Given the description of an element on the screen output the (x, y) to click on. 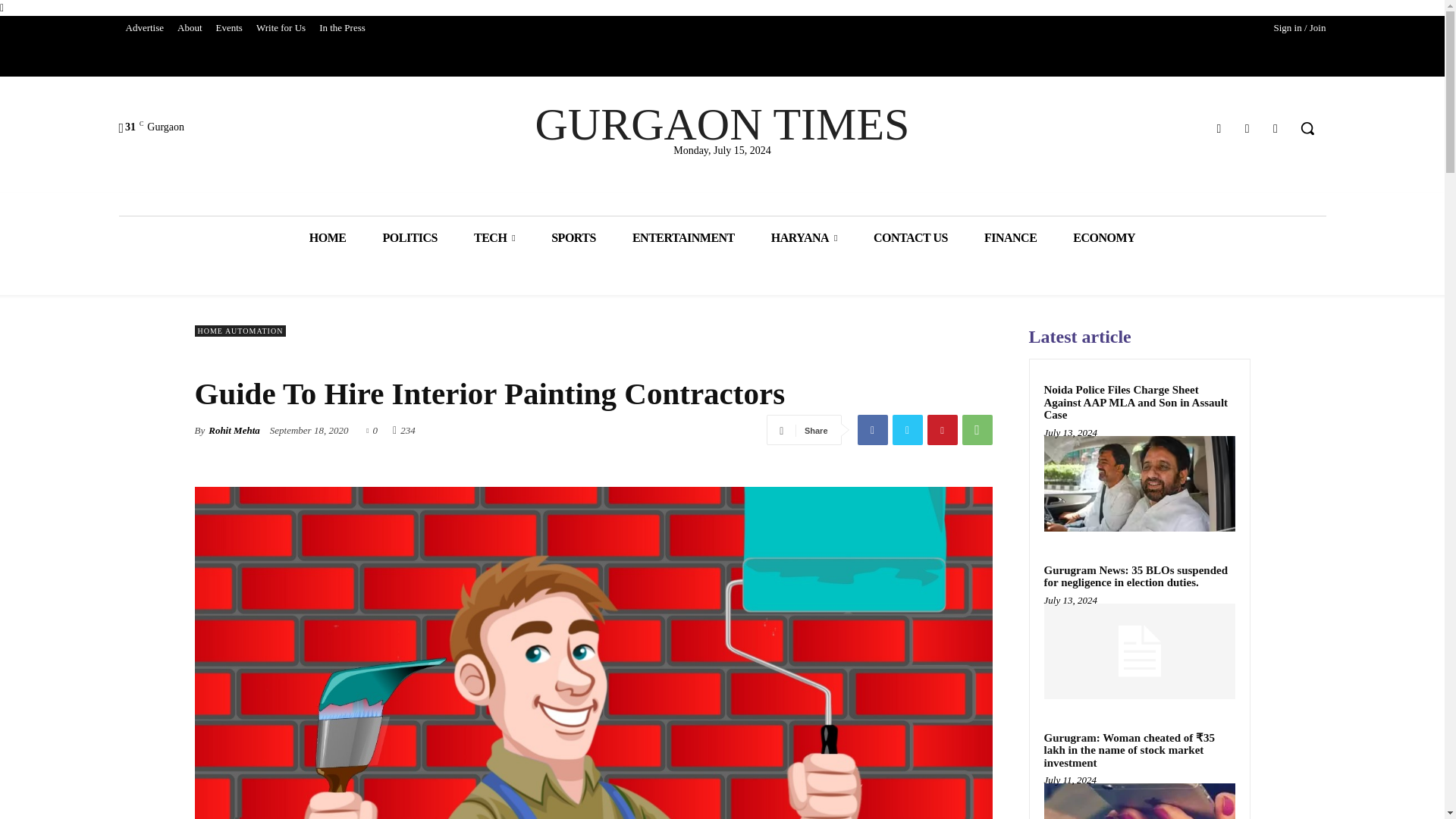
Facebook (1218, 127)
Events (228, 27)
In the Press (342, 27)
Twitter (1246, 127)
TECH (493, 237)
Write for Us (280, 27)
SPORTS (573, 237)
ENTERTAINMENT (683, 237)
About (189, 27)
POLITICS (410, 237)
HOME (328, 237)
Advertise (143, 27)
Youtube (1275, 127)
GURGAON TIMES (721, 124)
